Given the description of an element on the screen output the (x, y) to click on. 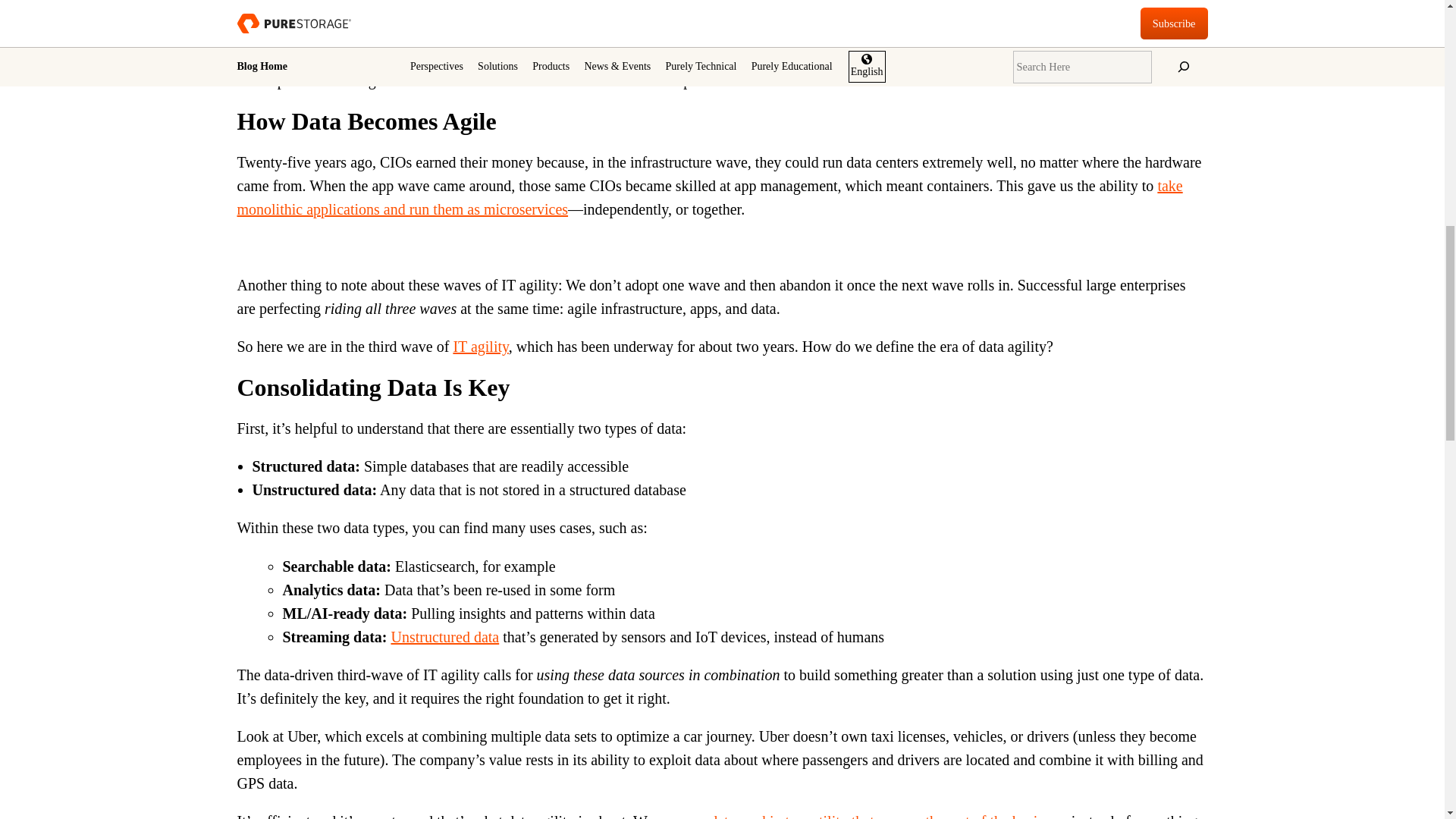
IT agility (480, 346)
Unstructured data (444, 636)
take monolithic applications and run them as microservices (708, 197)
